Given the description of an element on the screen output the (x, y) to click on. 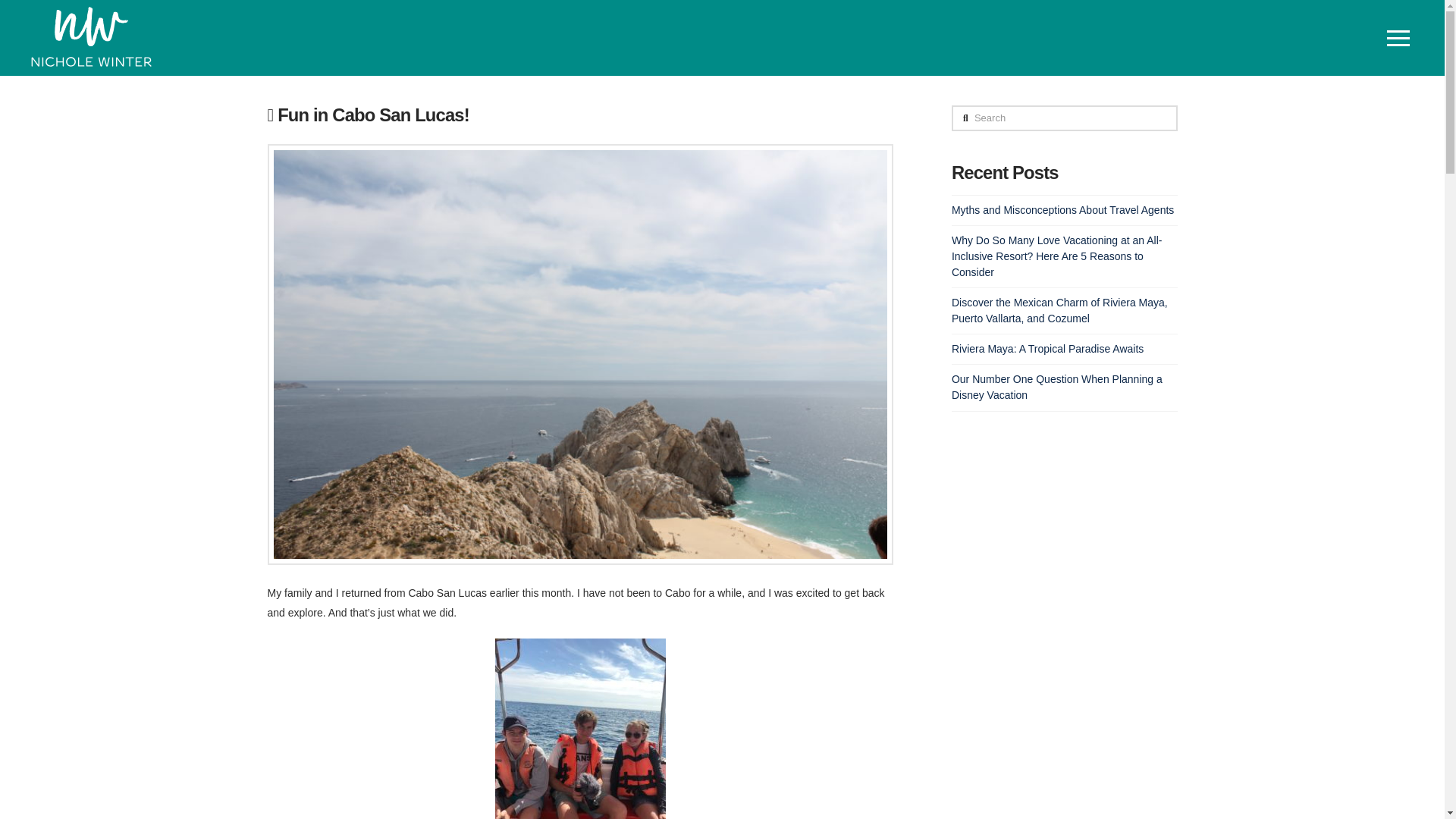
Our Number One Question When Planning a Disney Vacation (1056, 387)
Myths and Misconceptions About Travel Agents (1062, 209)
Riviera Maya: A Tropical Paradise Awaits (1047, 348)
